Given the description of an element on the screen output the (x, y) to click on. 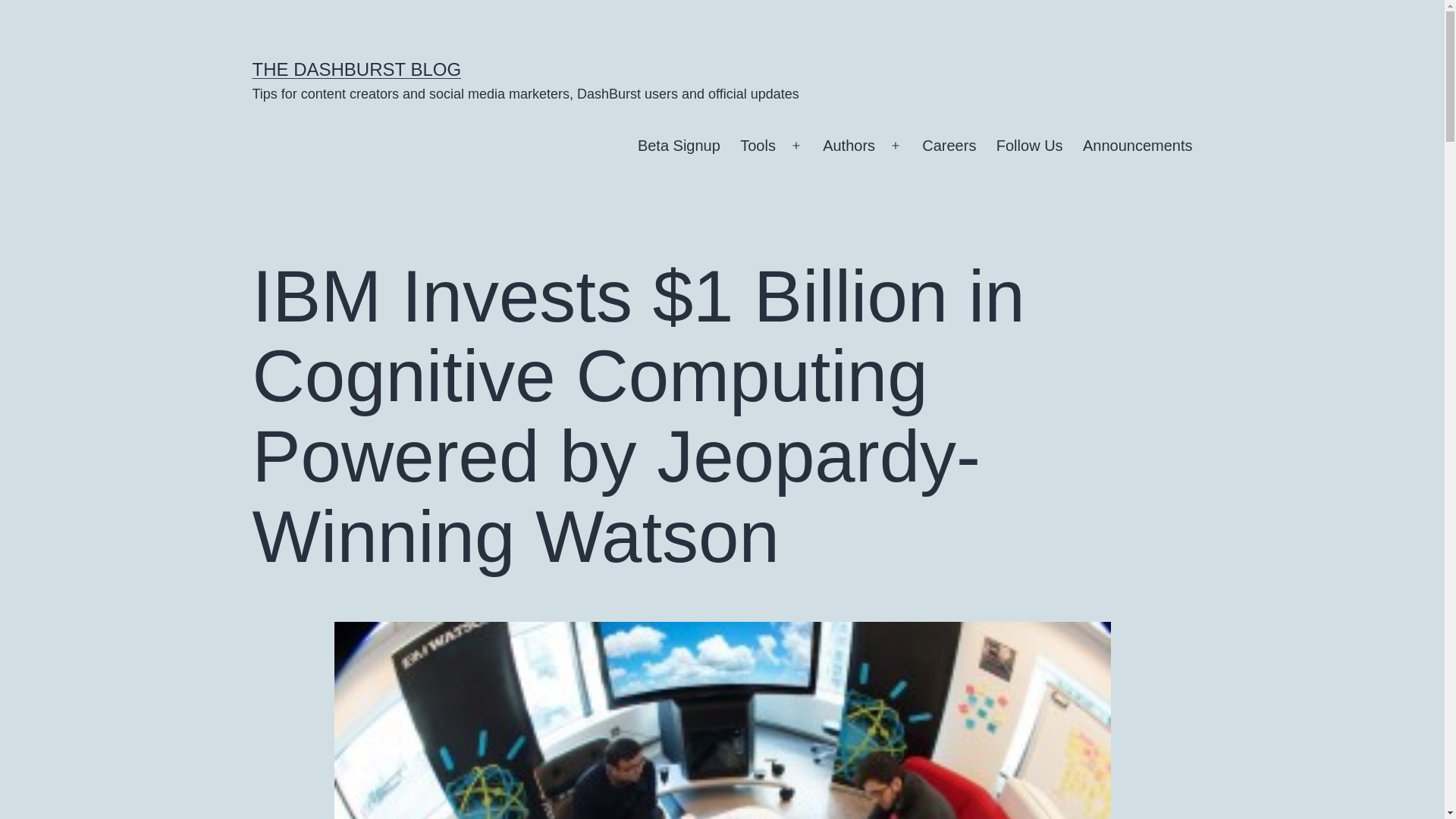
Careers (949, 145)
THE DASHBURST BLOG (356, 68)
Authors (848, 145)
Announcements (1137, 145)
Tools (758, 145)
Follow Us (1030, 145)
Sign Up for the DashBurst Beta! (678, 145)
Beta Signup (678, 145)
